Given the description of an element on the screen output the (x, y) to click on. 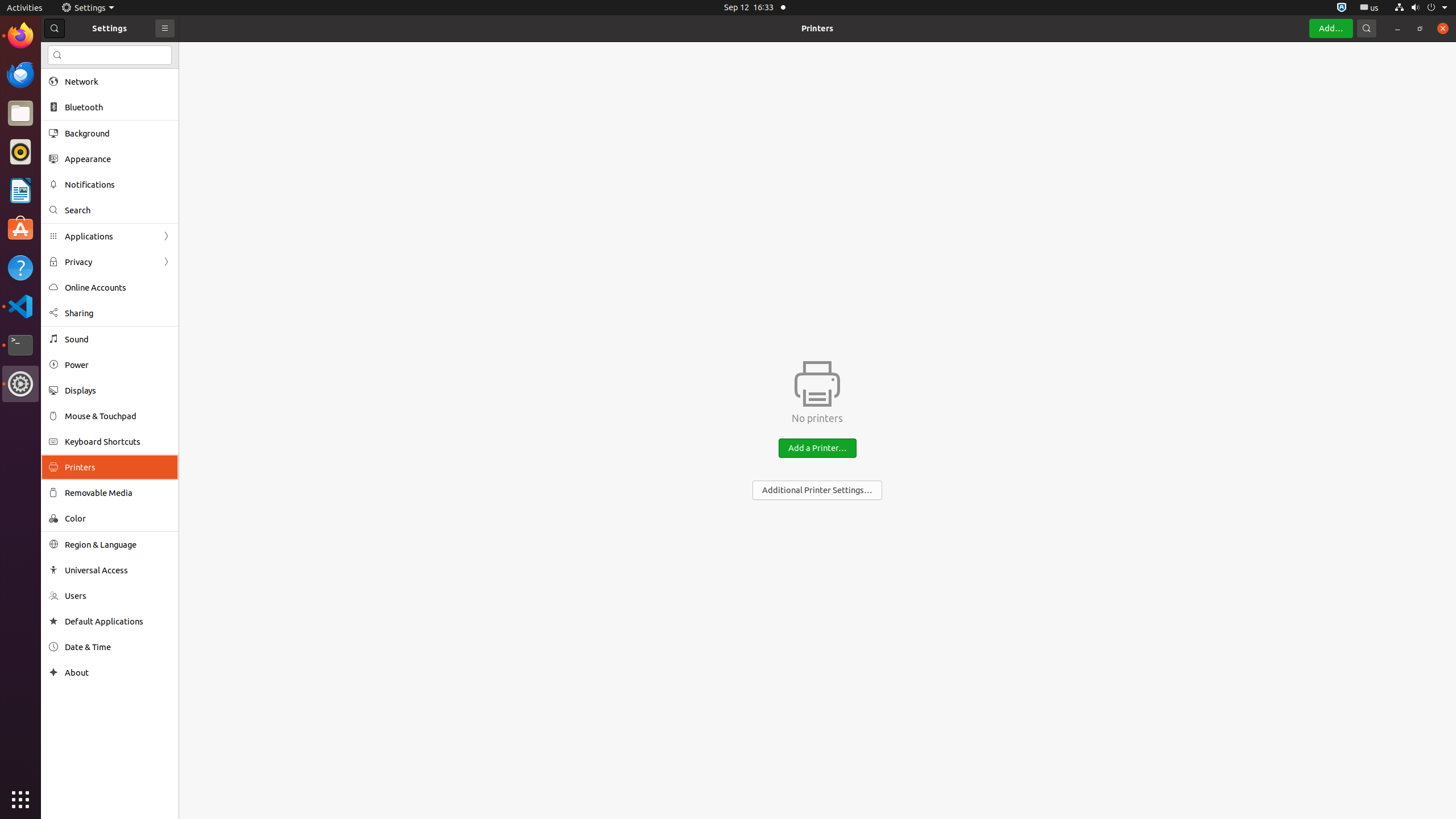
Date & Time Element type: label (117, 646)
Mouse & Touchpad Element type: label (117, 415)
Activities Element type: label (24, 7)
Printers Element type: label (817, 27)
